Given the description of an element on the screen output the (x, y) to click on. 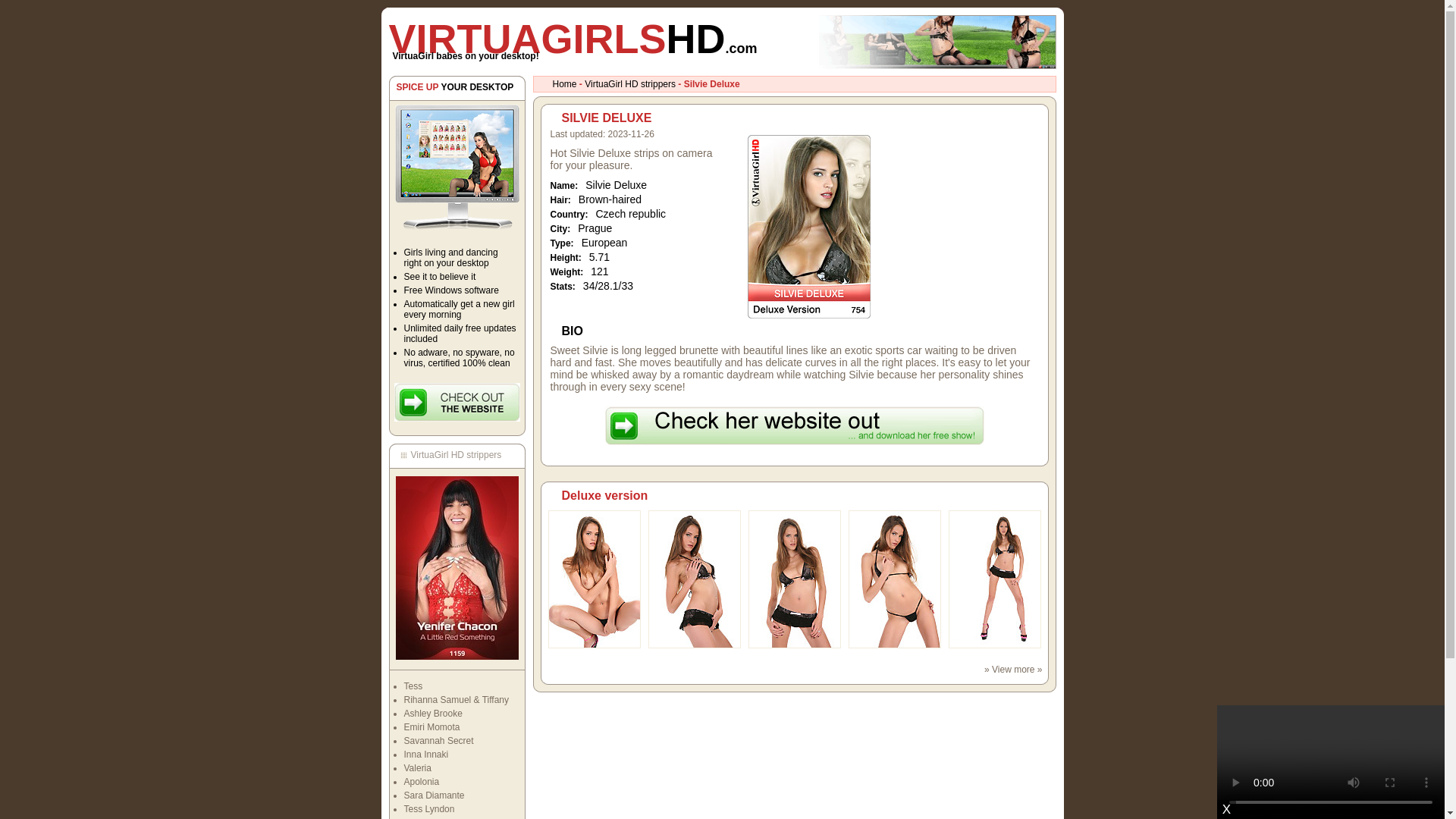
Silvie Deluxe - Deluxe version - 1 (593, 644)
Silvie Deluxe - Deluxe version - 4 (893, 644)
Inna Innaki (425, 754)
Silvie Deluxe - Deluxe version - 2 (693, 644)
Home (563, 83)
Silvie Deluxe - Deluxe version - 3 (794, 644)
Tess (412, 685)
Emiri Momota (431, 726)
Sara Diamante (433, 795)
Silvie Deluxe - Deluxe version - 5 (994, 644)
Valeria (416, 767)
VIRTUAGIRLSHD.com (572, 38)
Ashley Brooke (432, 713)
Deluxe version (603, 495)
Apolonia (421, 781)
